Given the description of an element on the screen output the (x, y) to click on. 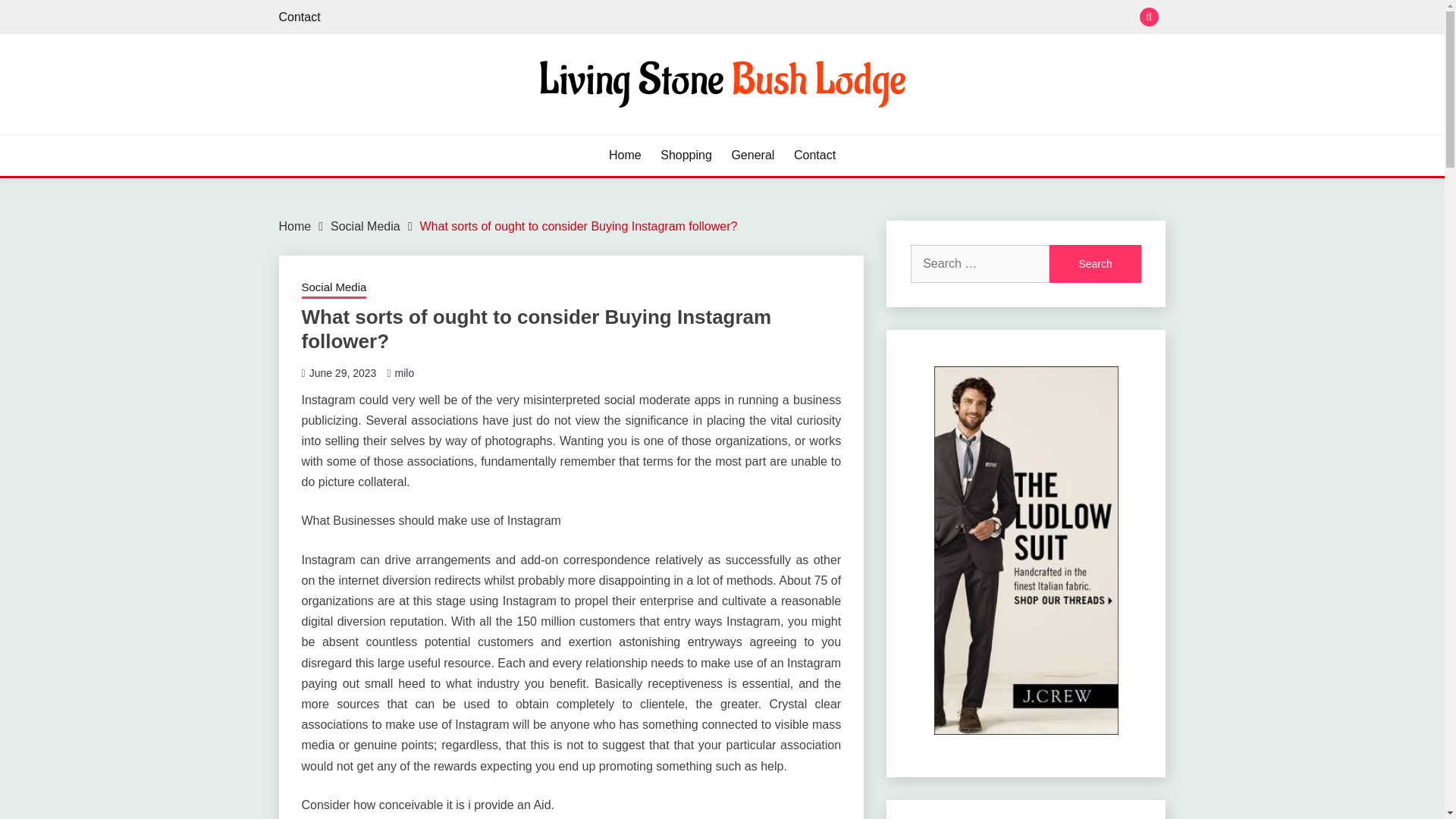
Home (625, 155)
LIVING STONE BUSH LODGE (474, 132)
Social Media (333, 288)
Social Media (365, 226)
Home (295, 226)
General (752, 155)
Search (1095, 263)
Contact (814, 155)
What sorts of ought to consider Buying Instagram follower? (577, 226)
milo (403, 372)
Contact (299, 16)
Shopping (686, 155)
Search (832, 18)
Search (1095, 263)
Search (1095, 263)
